Given the description of an element on the screen output the (x, y) to click on. 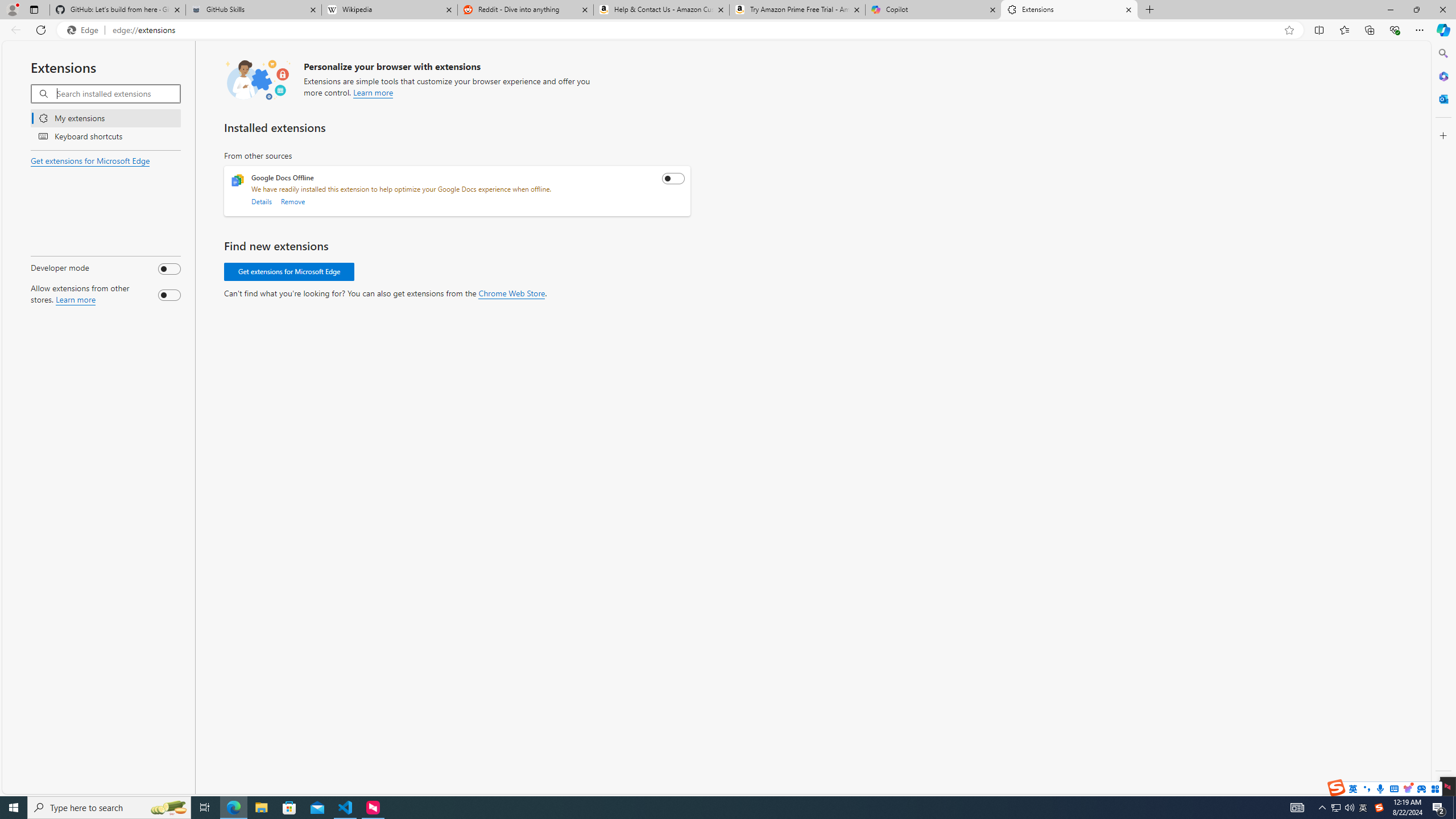
Details (261, 200)
Try Amazon Prime Free Trial - Amazon Customer Service (797, 9)
Google Docs Offlineundefined Extension off (457, 191)
Chrome Web Store (512, 292)
